Given the description of an element on the screen output the (x, y) to click on. 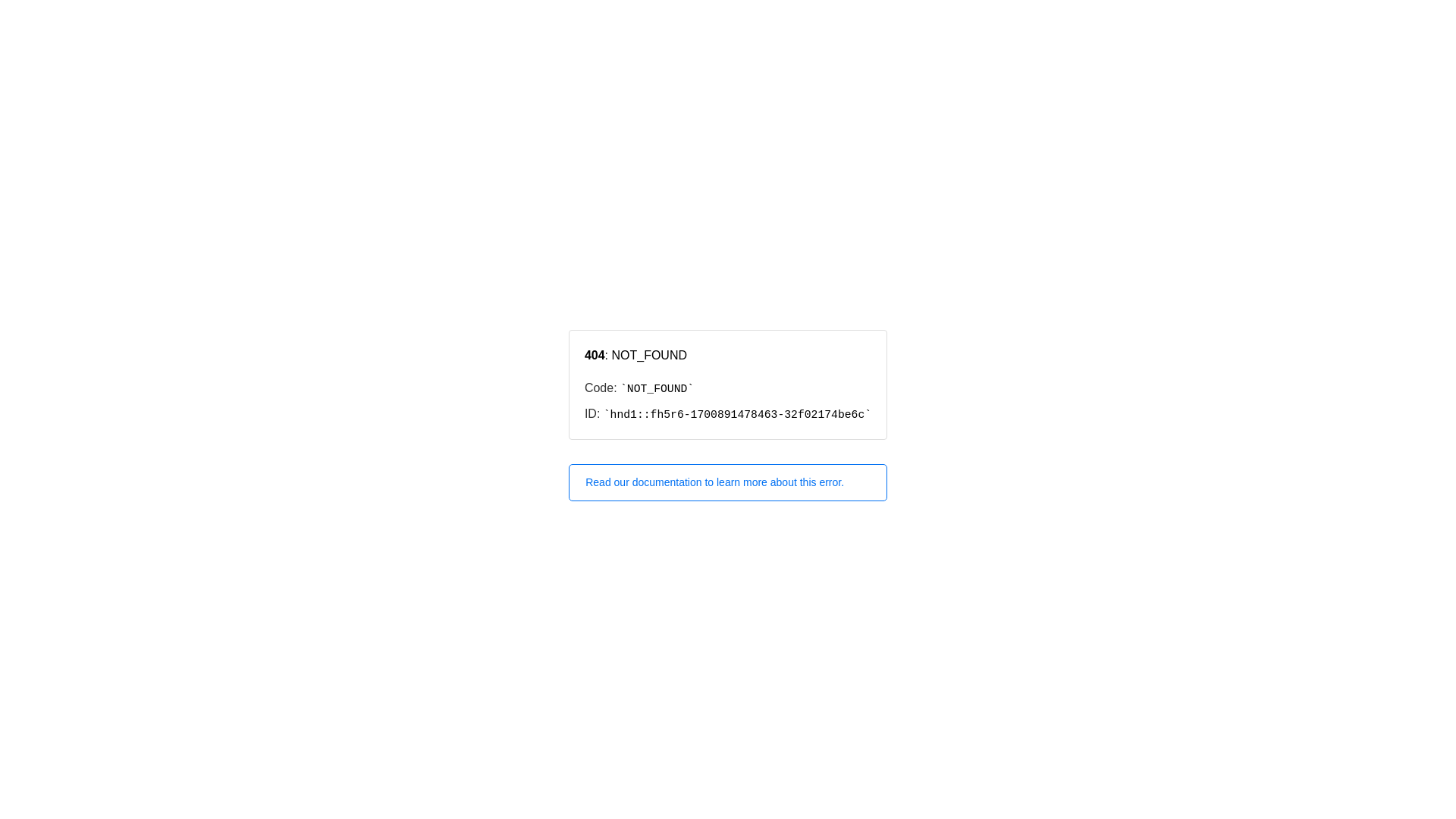
Read our documentation to learn more about this error. Element type: text (727, 482)
